Given the description of an element on the screen output the (x, y) to click on. 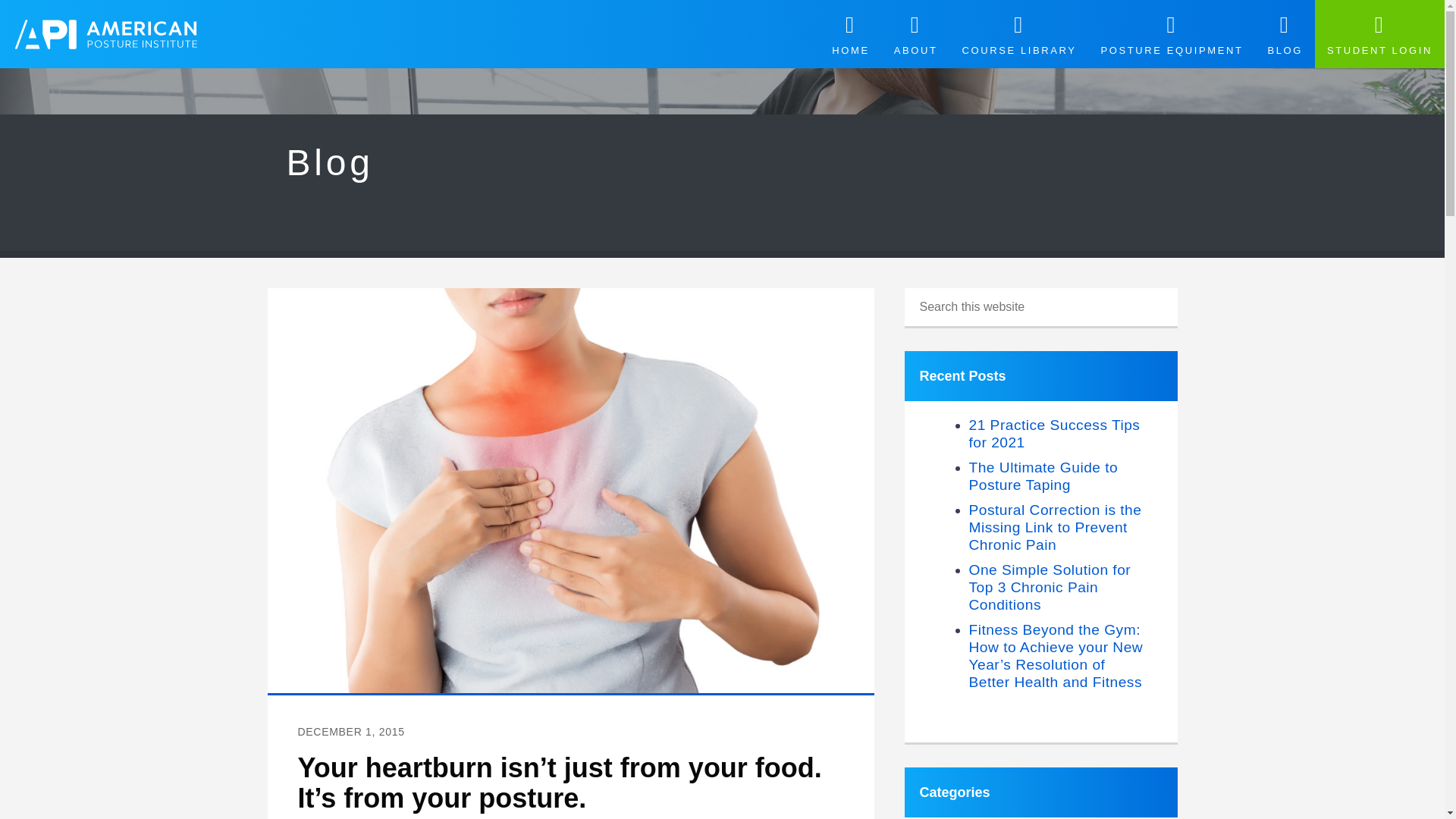
One Simple Solution for Top 3 Chronic Pain Conditions (1050, 586)
American Posture Institute (105, 34)
ABOUT (916, 33)
21 Practice Success Tips for 2021 (1054, 433)
COURSE LIBRARY (1018, 33)
Search (1202, 300)
The Ultimate Guide to Posture Taping (1043, 476)
POSTURE EQUIPMENT (1172, 33)
Search (1202, 300)
